Given the description of an element on the screen output the (x, y) to click on. 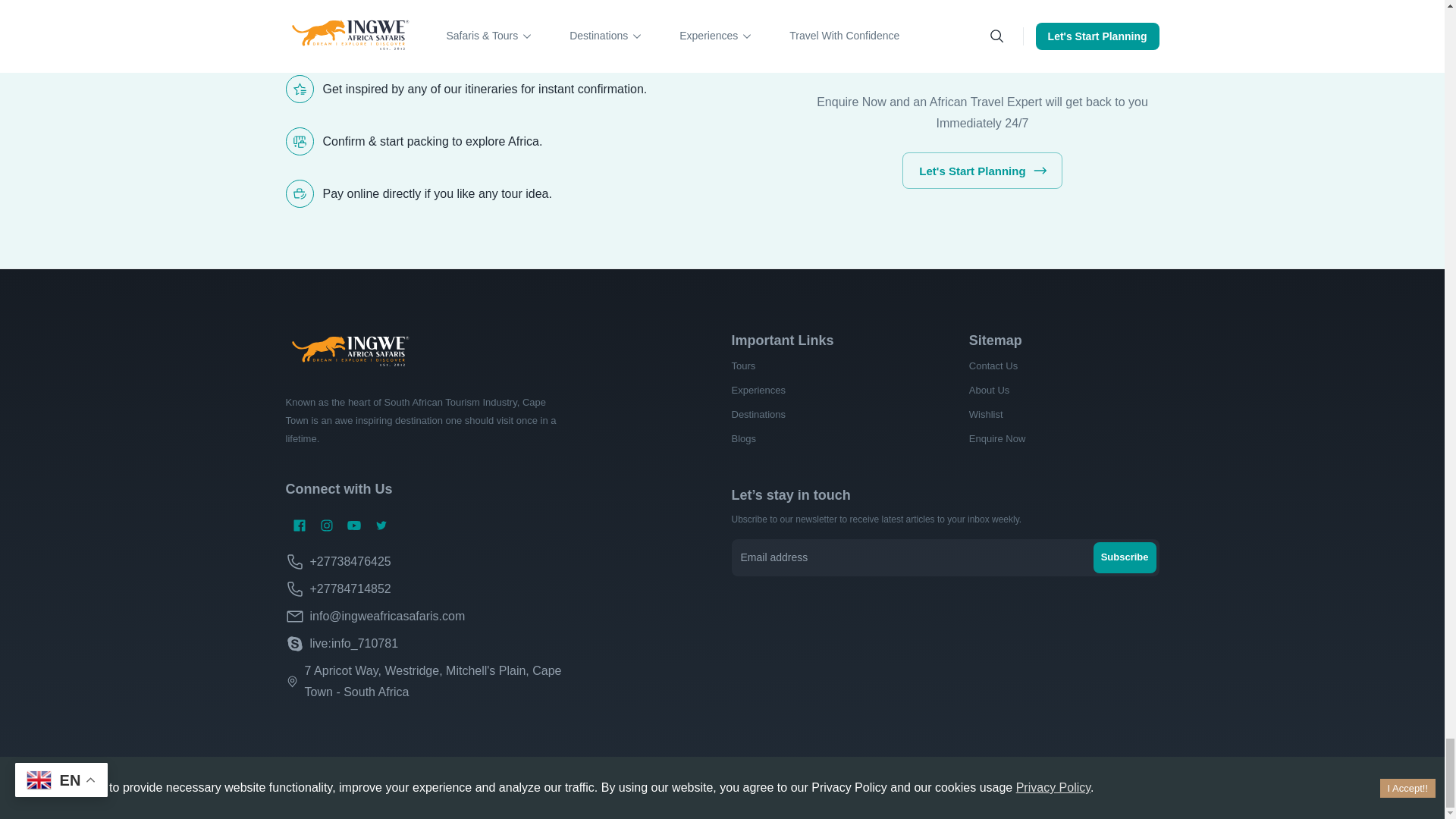
Being Idea IT Solutions (518, 790)
Let'S Start Planning (981, 170)
